Given the description of an element on the screen output the (x, y) to click on. 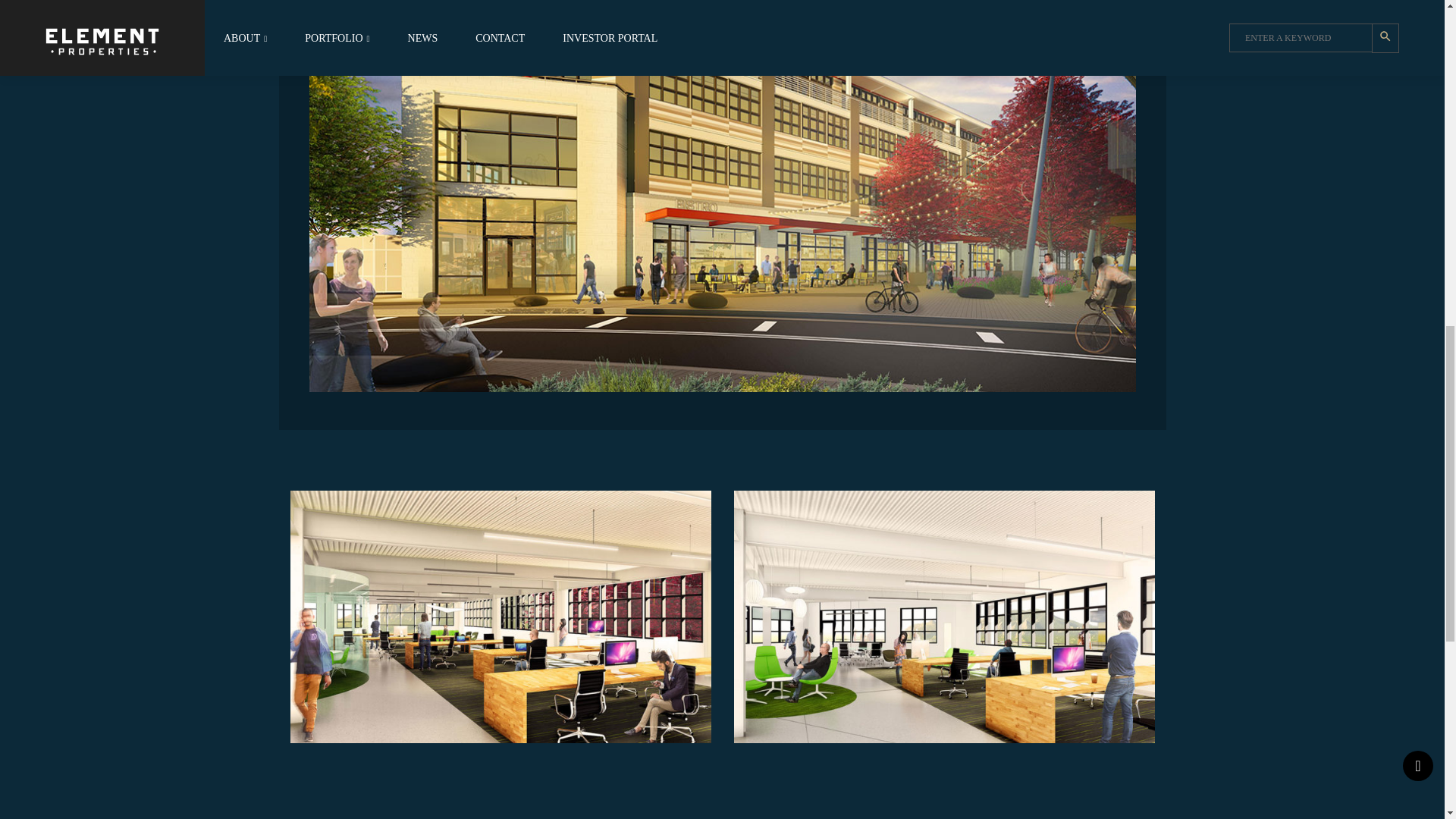
Railyards-at-SPARK-03 (499, 616)
Railyards-at-SPARK-02 (943, 616)
